Given the description of an element on the screen output the (x, y) to click on. 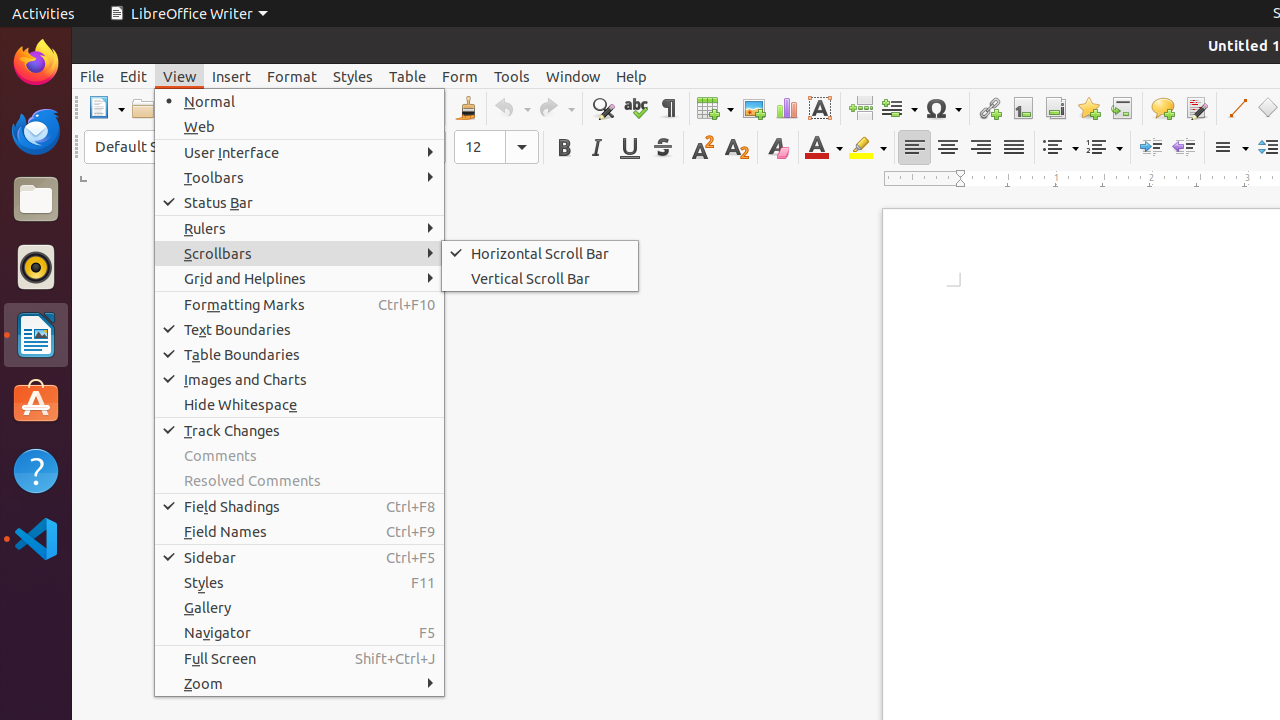
Page Break Element type: push-button (860, 108)
Underline Element type: push-button (629, 147)
Field Element type: push-button (899, 108)
File Element type: menu (92, 76)
Files Element type: push-button (36, 199)
